Given the description of an element on the screen output the (x, y) to click on. 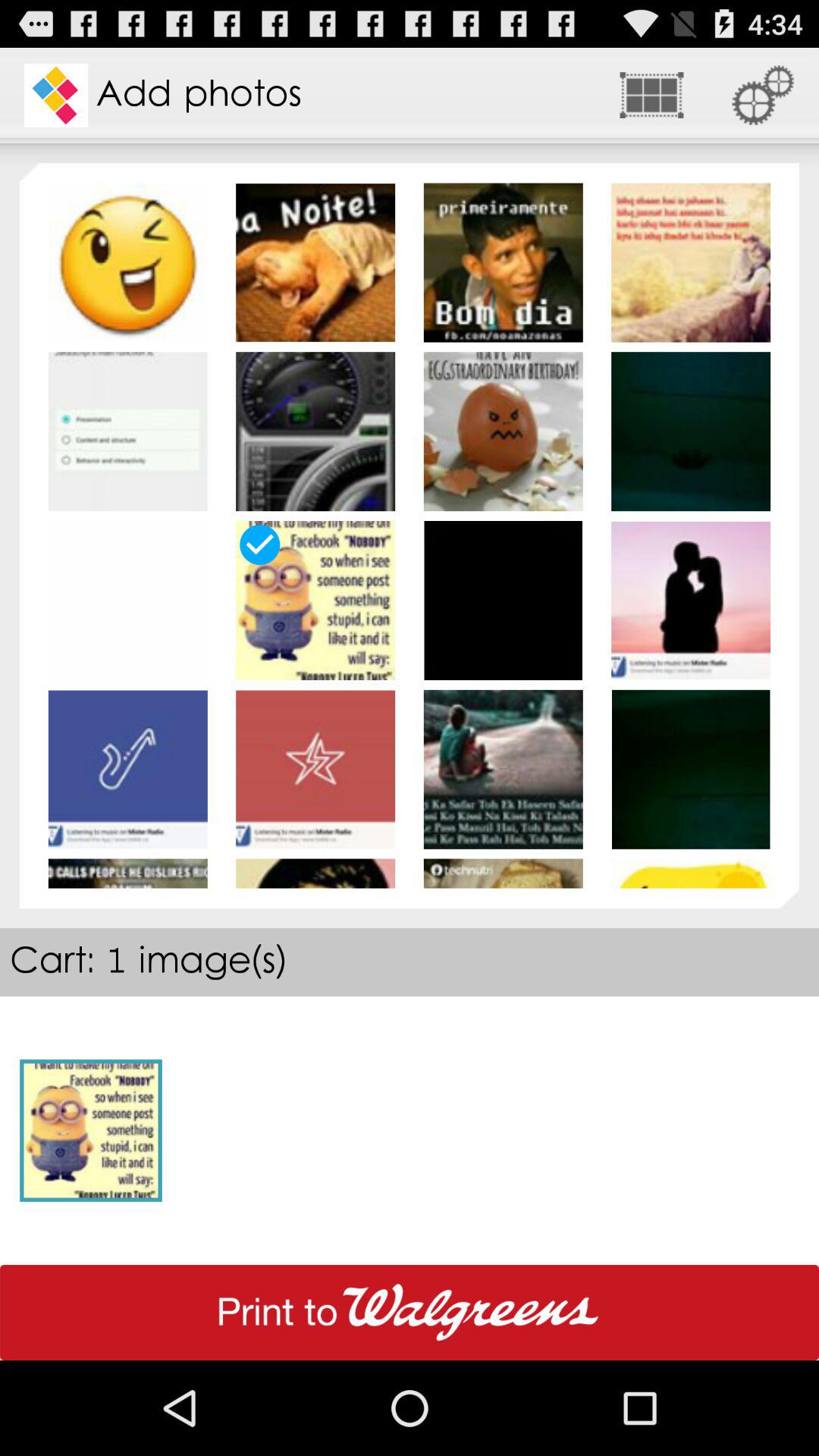
select the first image below add photos (128, 262)
click on image right to yellow smiley image at top (314, 262)
icon before add photos heading of the page (56, 95)
click the third image in the second row from left to right (503, 431)
select the symbol star in the fourth row second column (314, 769)
click on the third image next to the star image to the left (128, 769)
choose the last image in 1st line (690, 262)
select the image below smily image (128, 431)
